Given the description of an element on the screen output the (x, y) to click on. 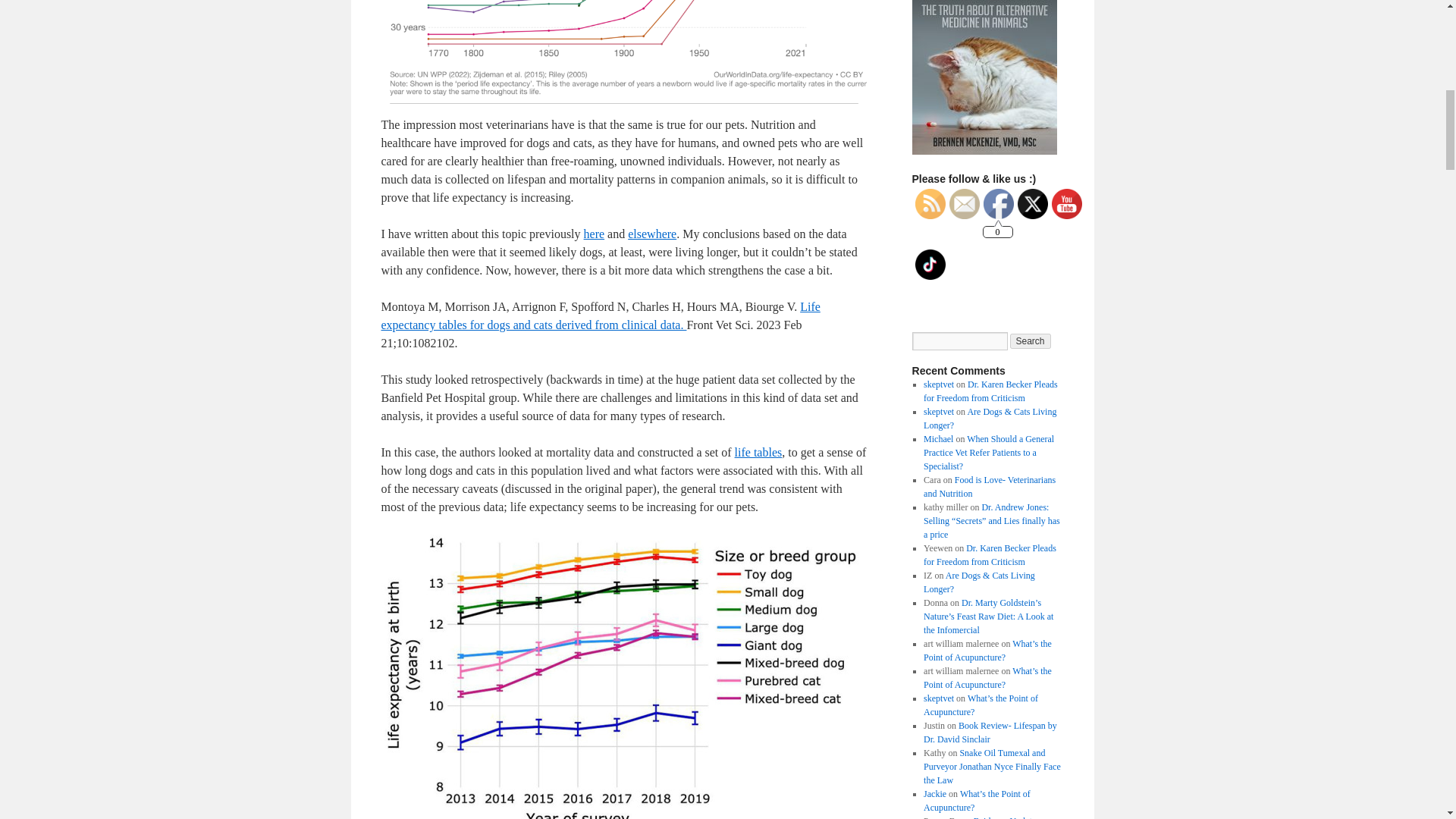
YouTube (1066, 204)
Facebook (997, 204)
here (594, 233)
RSS (929, 204)
elsewhere (652, 233)
Twitter (1032, 204)
Tiktok (929, 264)
life tables (759, 451)
Follow by Email (964, 204)
Search (1030, 340)
